Given the description of an element on the screen output the (x, y) to click on. 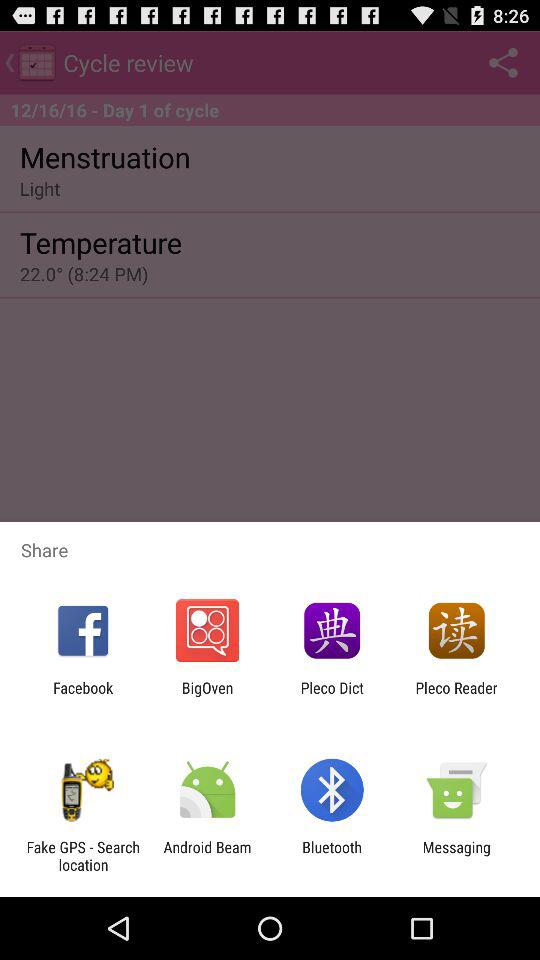
tap fake gps search app (83, 856)
